Given the description of an element on the screen output the (x, y) to click on. 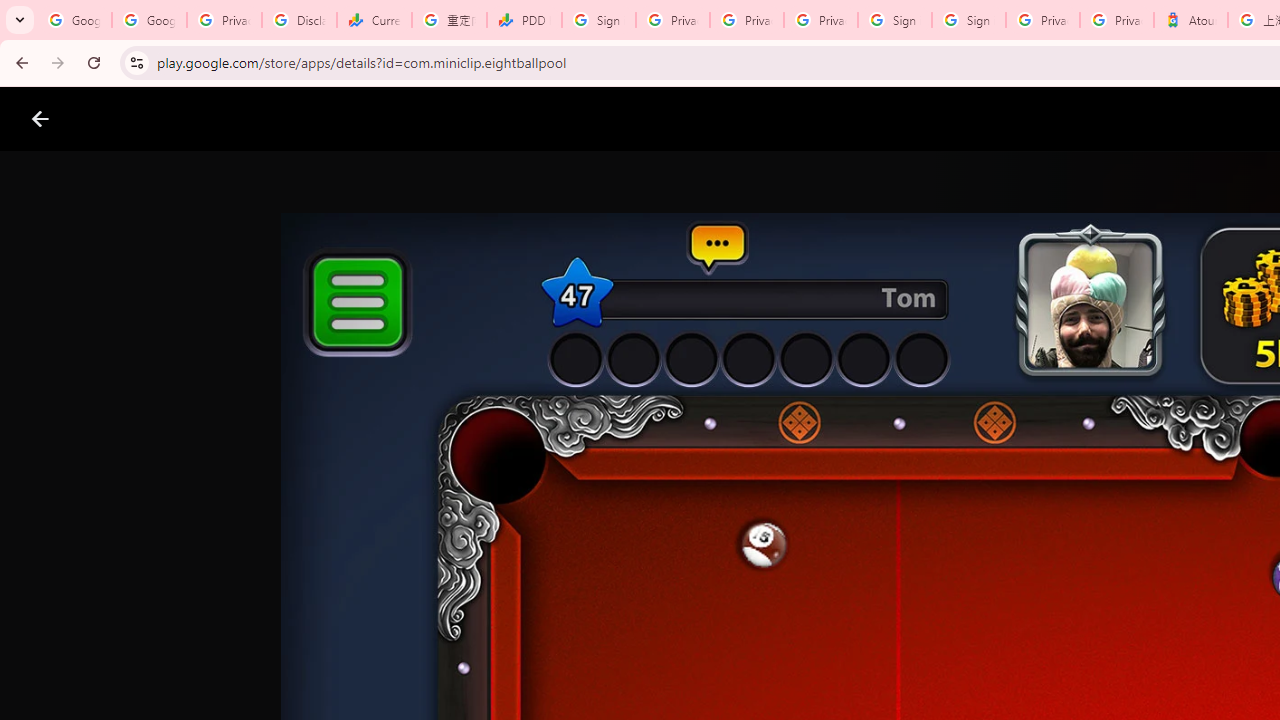
Atour Hotel - Google hotels (1190, 20)
